Given the description of an element on the screen output the (x, y) to click on. 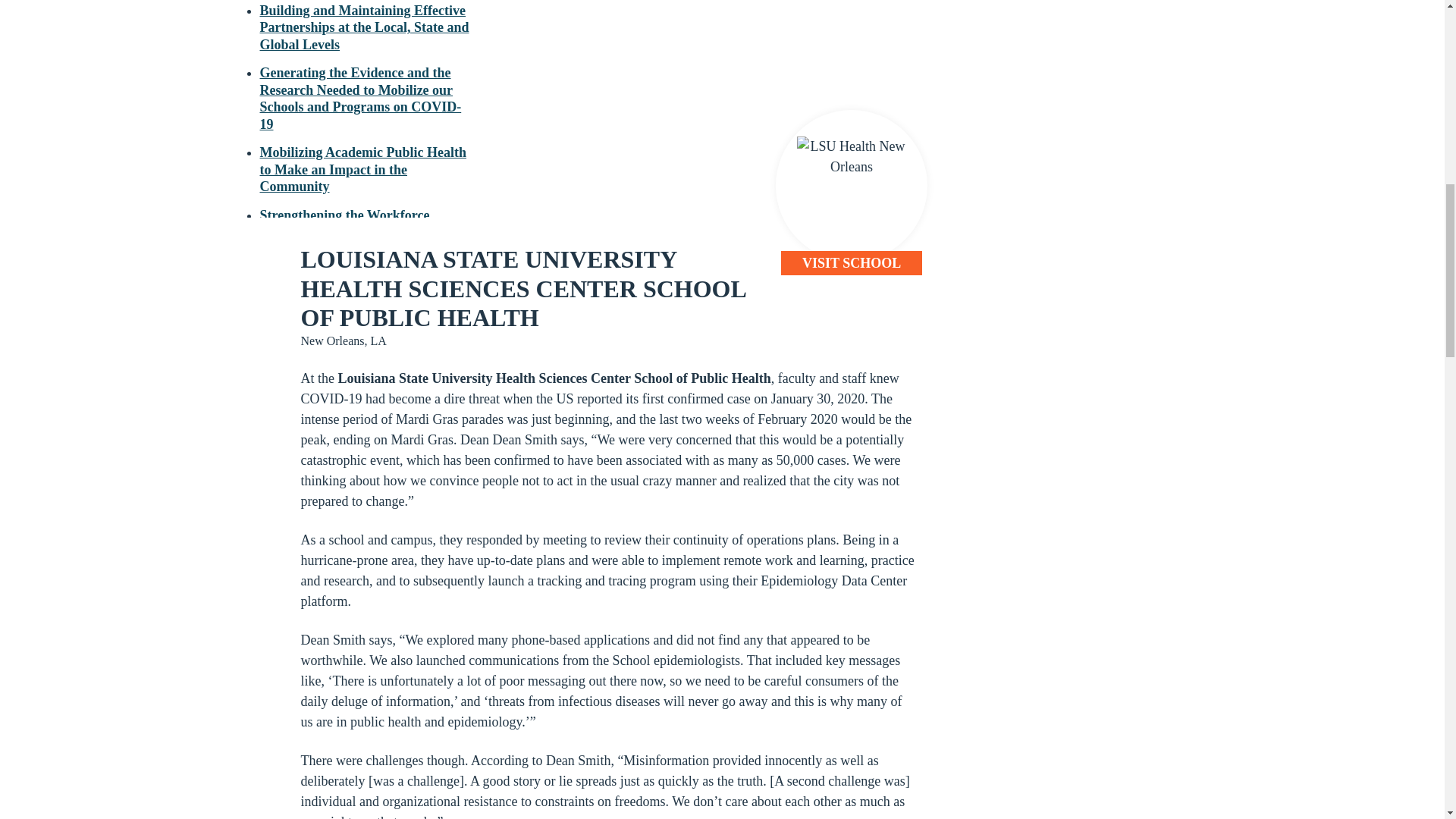
Using Our Voice to Advocate and Champion Truth and Justice (355, 331)
Strengthening the Workforce Through Education and Training (355, 224)
VISIT SCHOOL (850, 262)
